Given the description of an element on the screen output the (x, y) to click on. 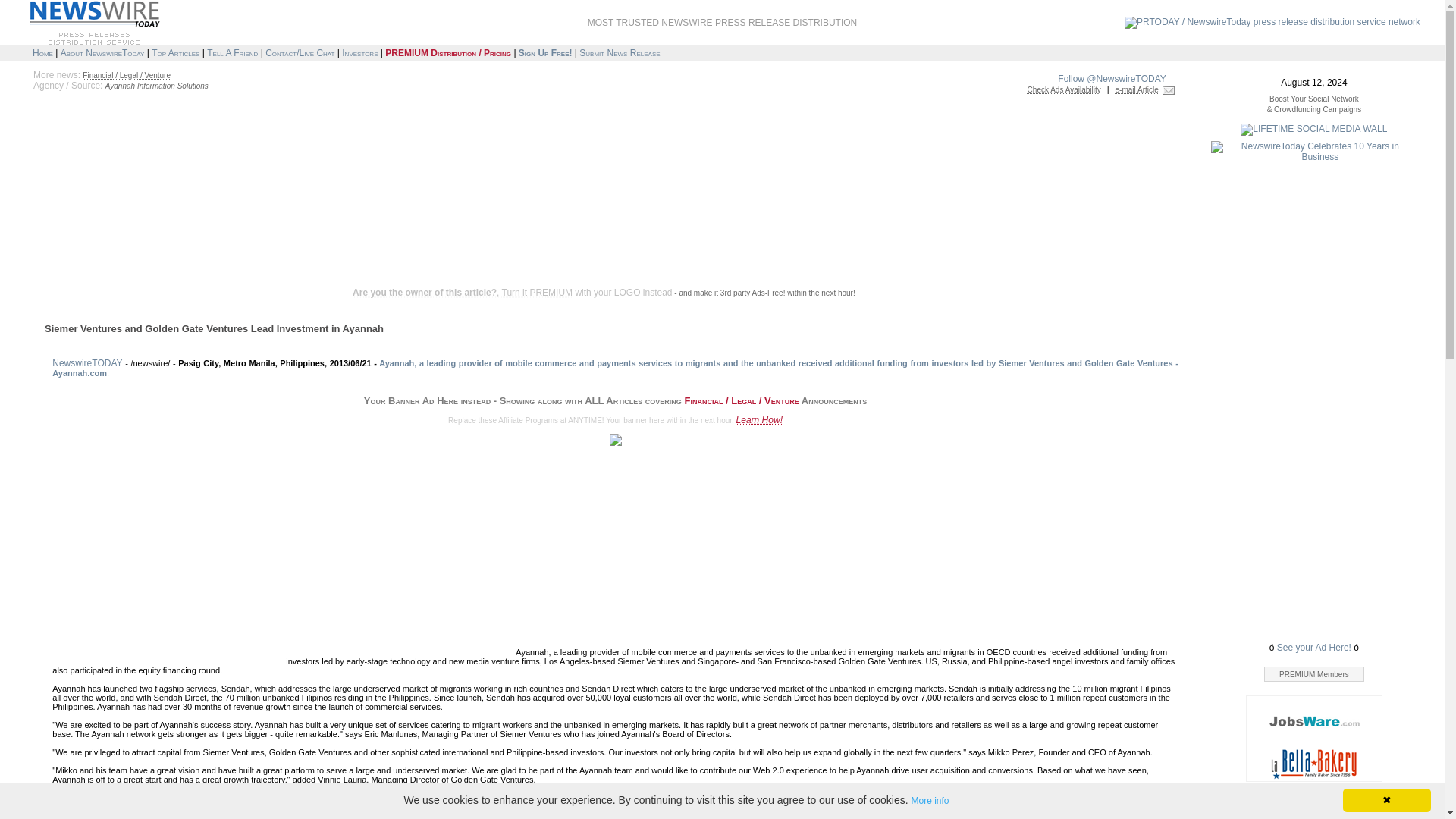
Top Articles (175, 52)
Contact NewswireToday (299, 52)
Ayannah Information Solutions (156, 85)
Tell a friend about NewswireToday (231, 52)
e-mail Article (1136, 89)
About NewswireToday (102, 52)
Sign Up FREE! (545, 52)
Investors (359, 52)
